Given the description of an element on the screen output the (x, y) to click on. 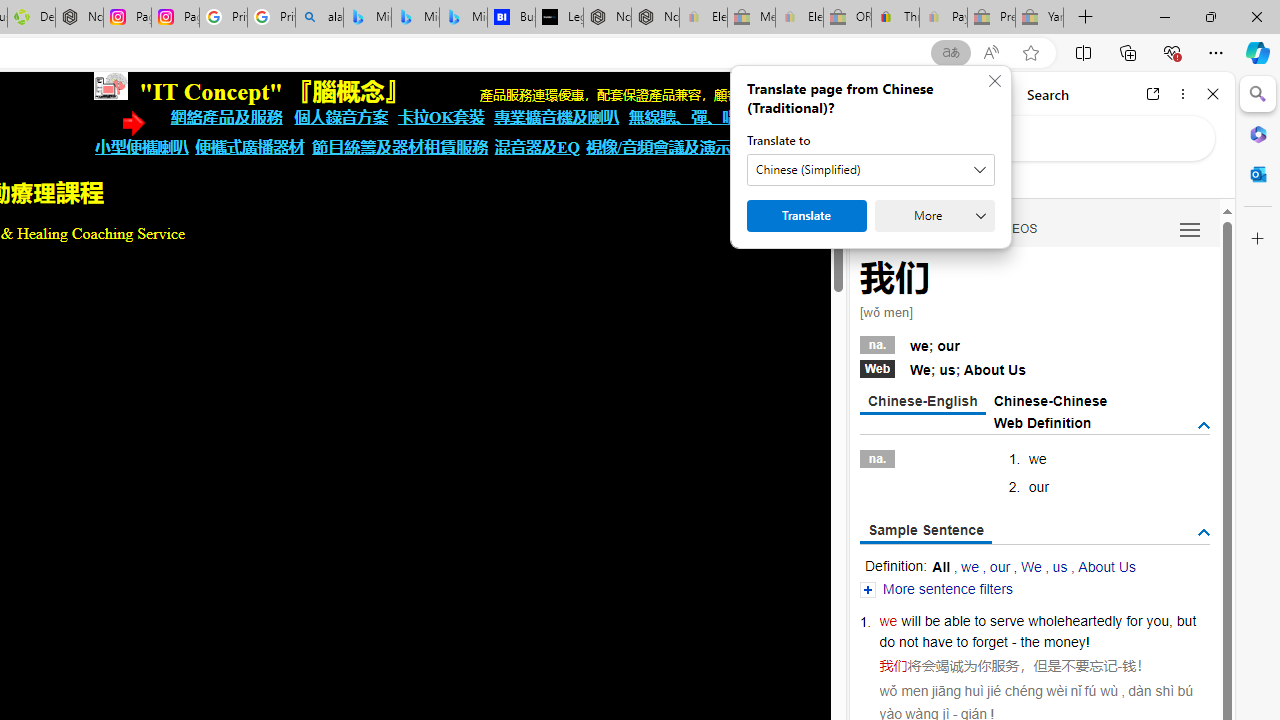
Restore (1210, 16)
Chinese-Chinese (1050, 400)
Open link in new tab (1153, 93)
forget (989, 642)
To get missing image descriptions, open the context menu. (110, 86)
but (1186, 620)
Customize (1258, 239)
Collections (1128, 52)
More (934, 215)
Class: b_serphb (1190, 229)
About (983, 370)
